Given the description of an element on the screen output the (x, y) to click on. 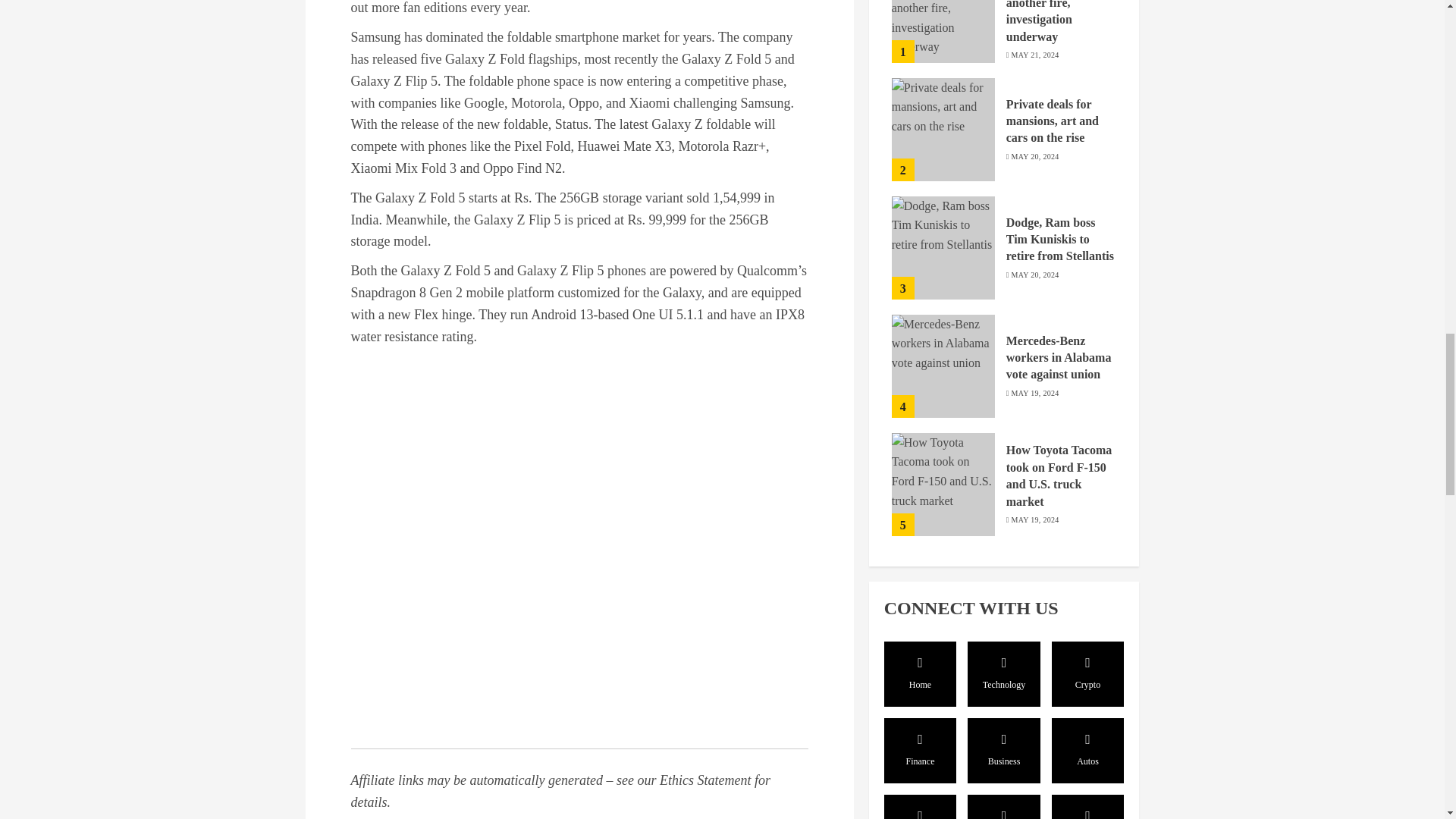
Mercedes-Benz workers in Alabama vote against union (942, 66)
How Toyota Tacoma took on Ford F-150 and U.S. truck market (942, 184)
